Given the description of an element on the screen output the (x, y) to click on. 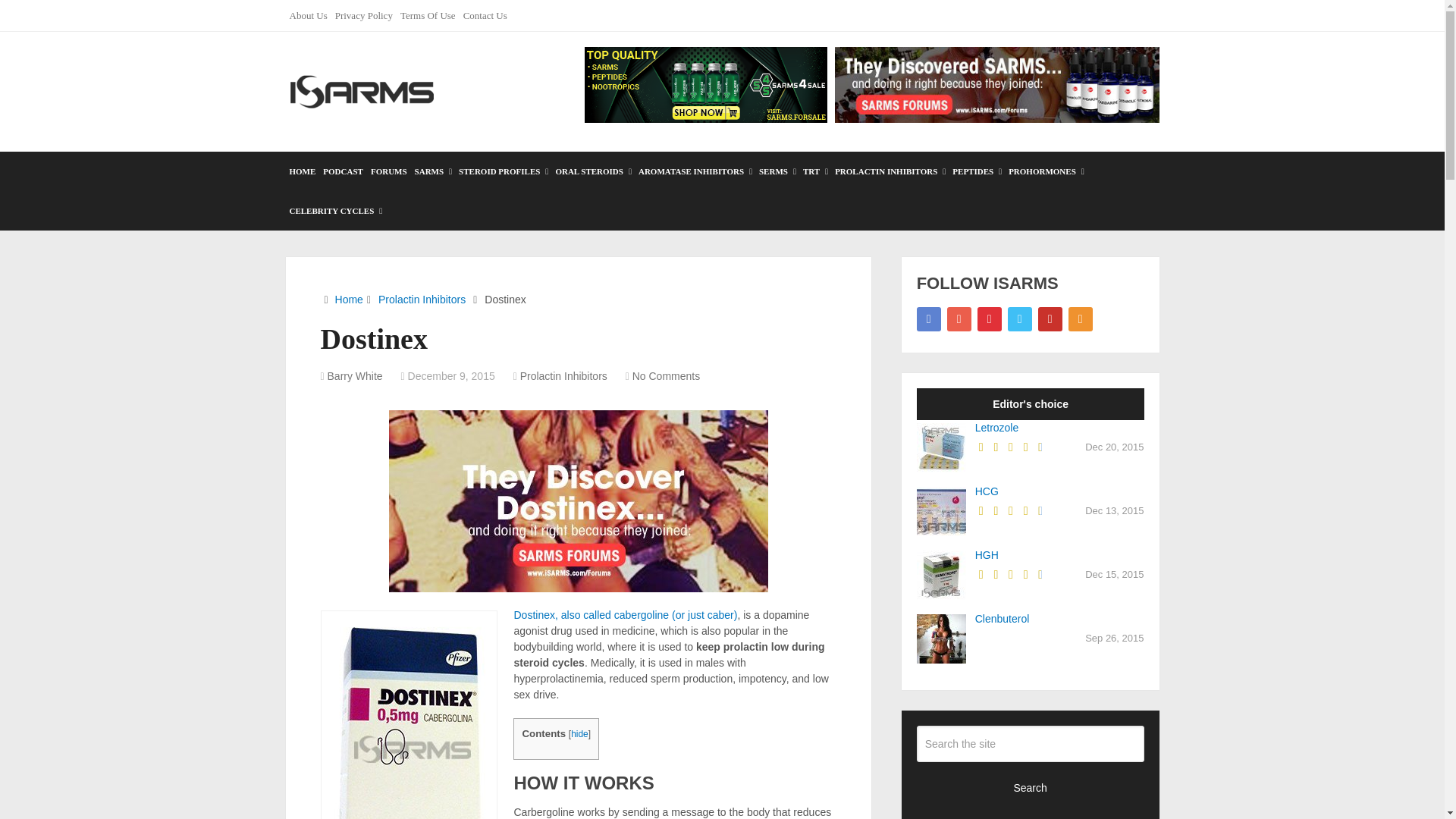
About Us (307, 15)
sarms.forsale (706, 84)
Twitter (1019, 319)
AROMATASE INHIBITORS (694, 170)
HCG (986, 491)
Facebook (928, 319)
Pinterest (988, 319)
Privacy Policy (363, 15)
Posts by Barry White (354, 376)
ORAL STEROIDS (592, 170)
FORUMS (388, 170)
STEROID PROFILES (502, 170)
Terms Of Use (428, 15)
RSS (1080, 319)
YouTube (1050, 319)
